Given the description of an element on the screen output the (x, y) to click on. 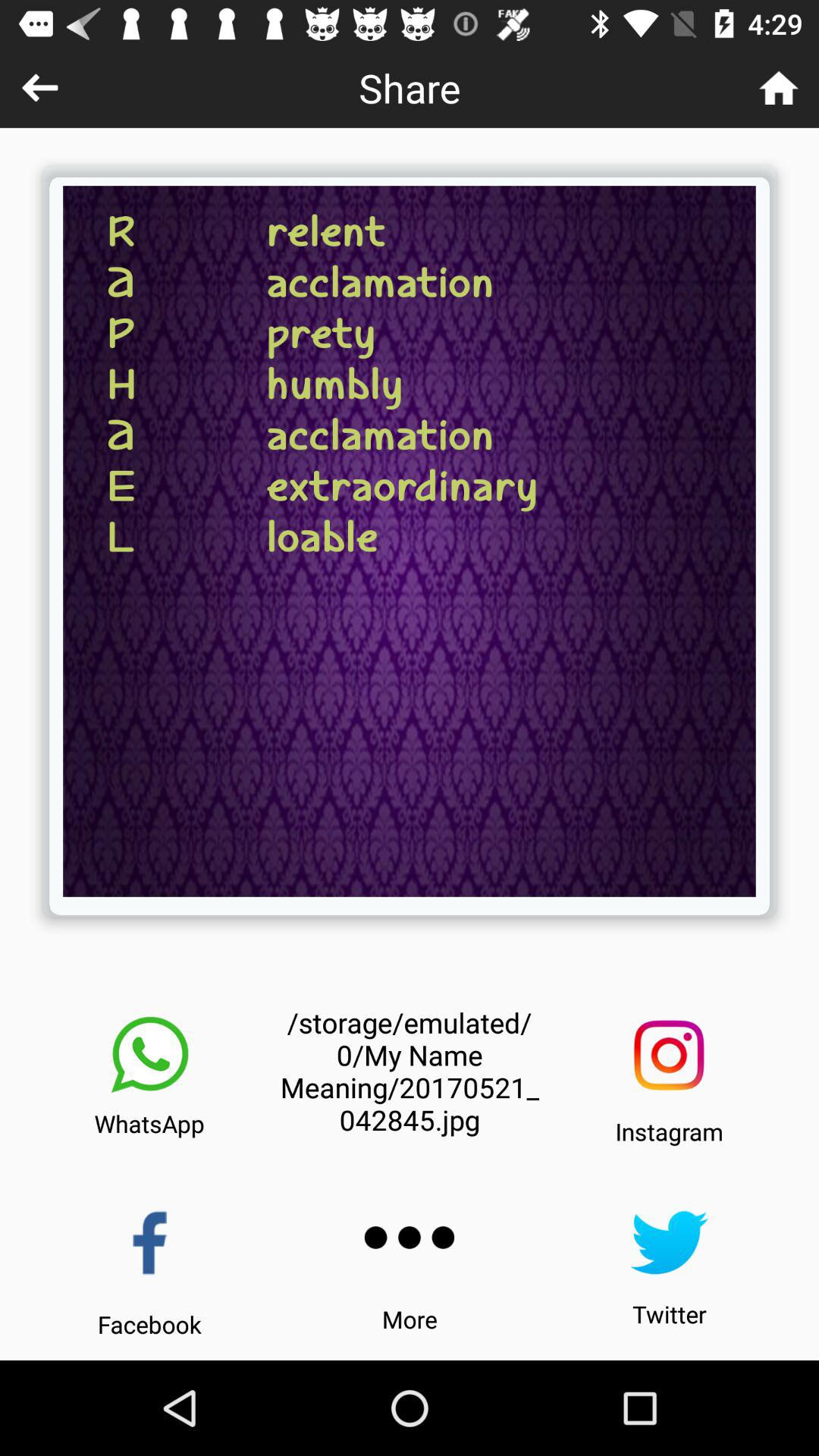
tap the icon to the right of share (778, 87)
